Given the description of an element on the screen output the (x, y) to click on. 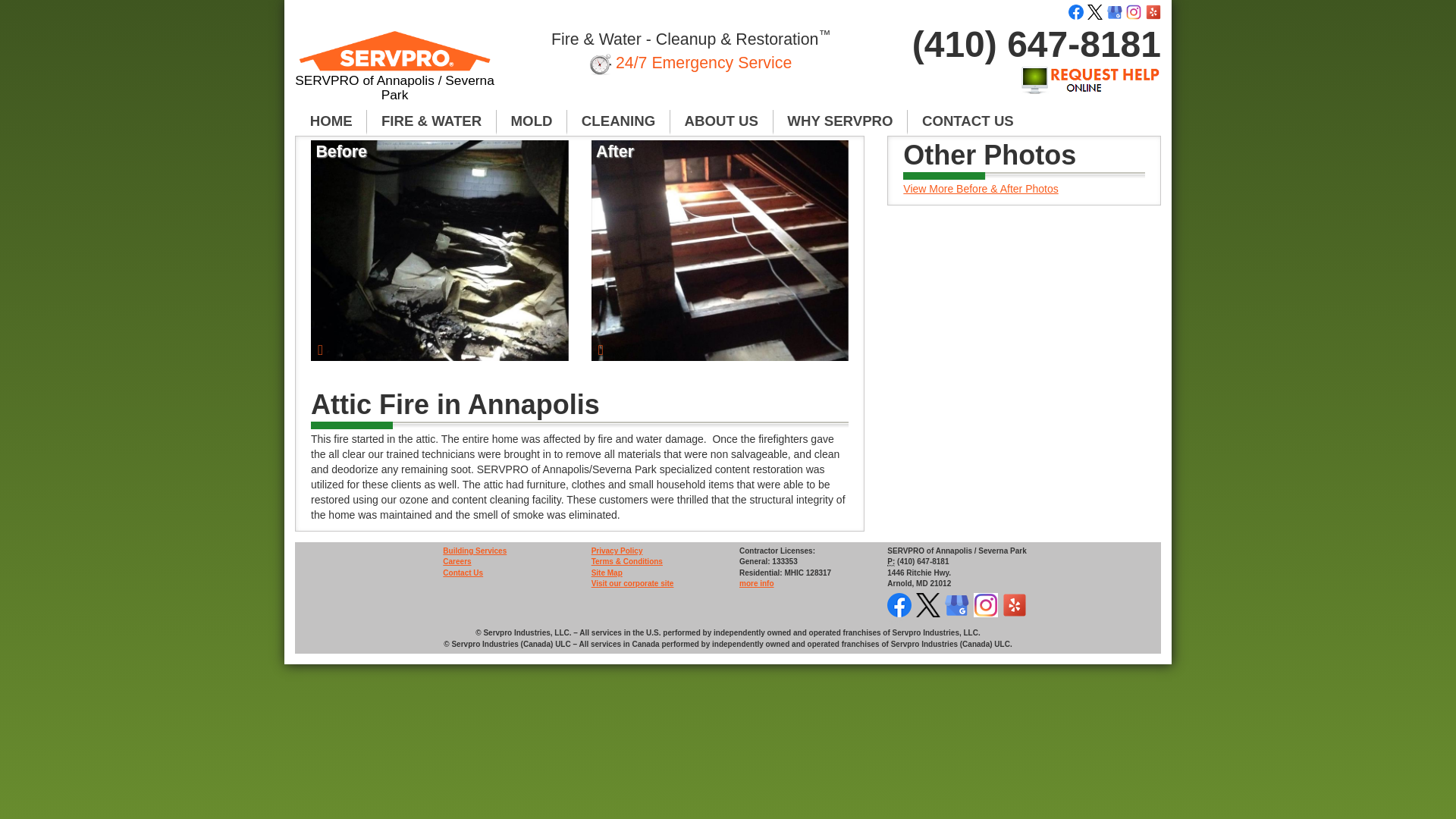
HOME (330, 121)
MOLD (531, 121)
CLEANING (618, 121)
ABOUT US (721, 121)
